Given the description of an element on the screen output the (x, y) to click on. 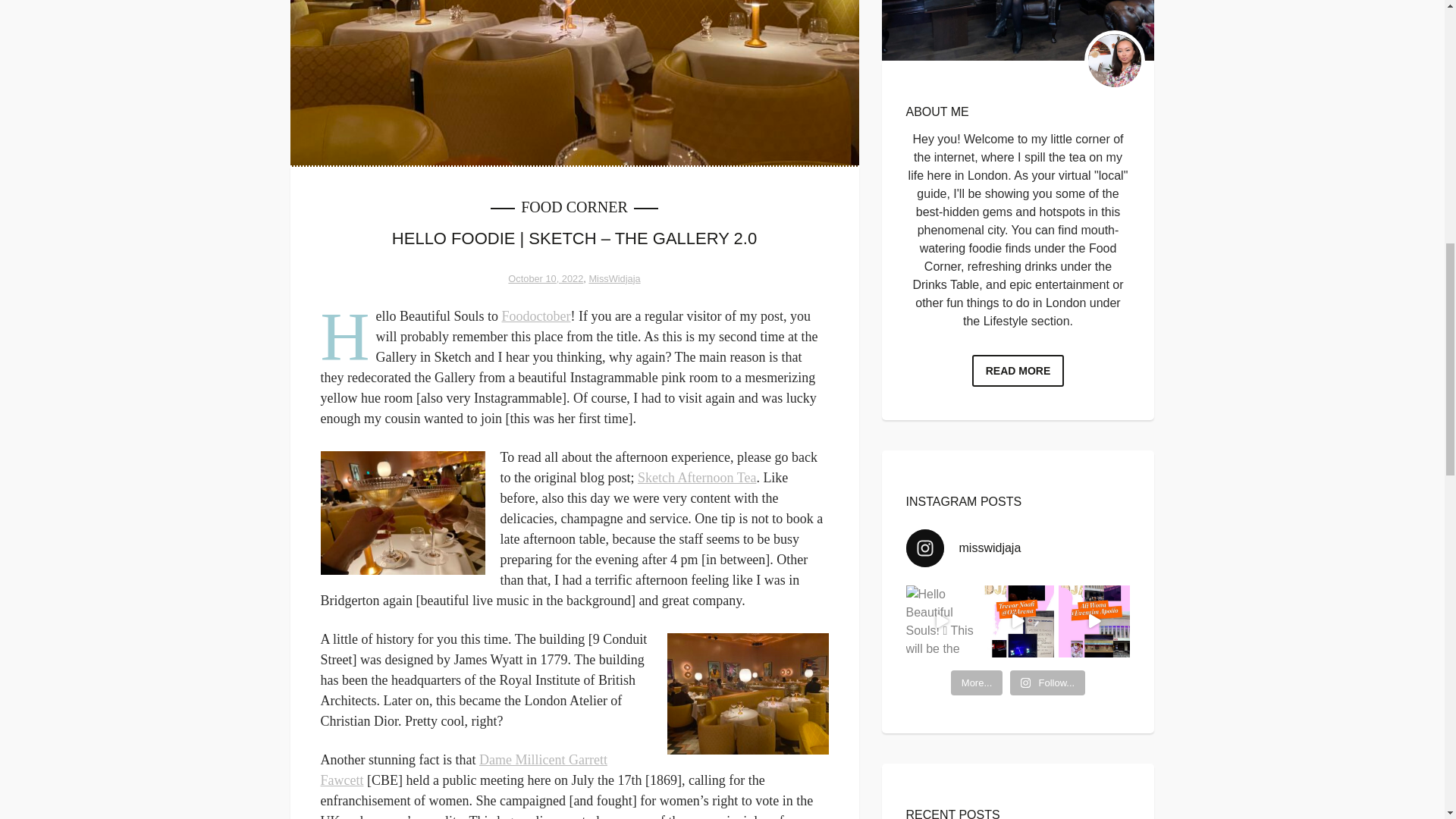
MissWidjaja (614, 278)
Dame Millicent Garrett Fawcett (463, 769)
October 10, 2022 (545, 278)
misswidjaja (1017, 548)
FOOD CORNER (574, 207)
Foodoctober (536, 315)
Sketch Afternoon Tea (696, 477)
READ MORE (1018, 370)
